Given the description of an element on the screen output the (x, y) to click on. 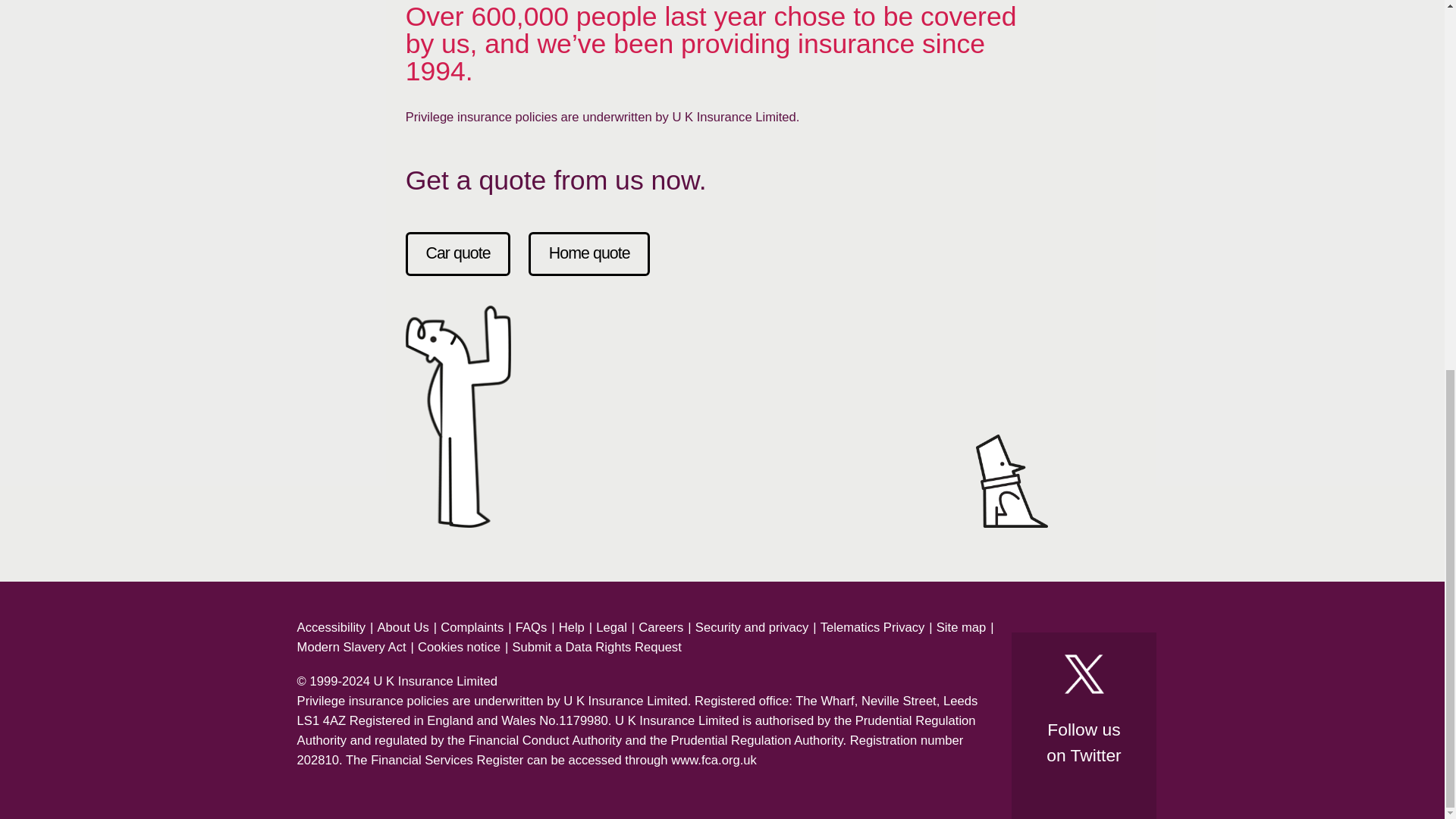
Cookies notice (458, 647)
Telematics Privacy (872, 628)
Complaints (472, 628)
About Us (402, 628)
Careers (660, 628)
Accessibility (331, 628)
Legal (611, 628)
Site map (961, 628)
Security and privacy (752, 628)
Car quote (458, 253)
